Given the description of an element on the screen output the (x, y) to click on. 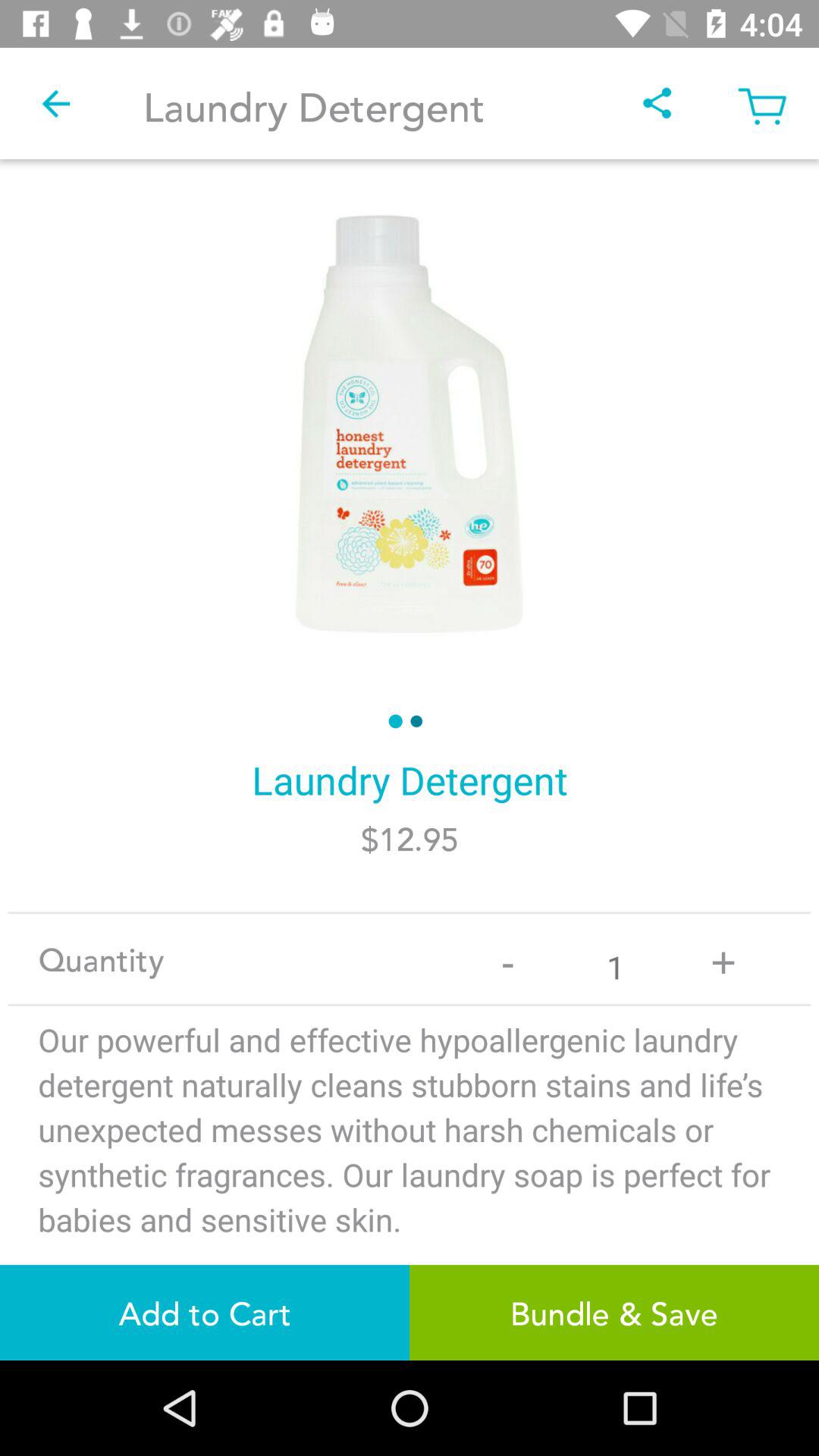
press the bundle & save at the bottom right corner (614, 1312)
